Given the description of an element on the screen output the (x, y) to click on. 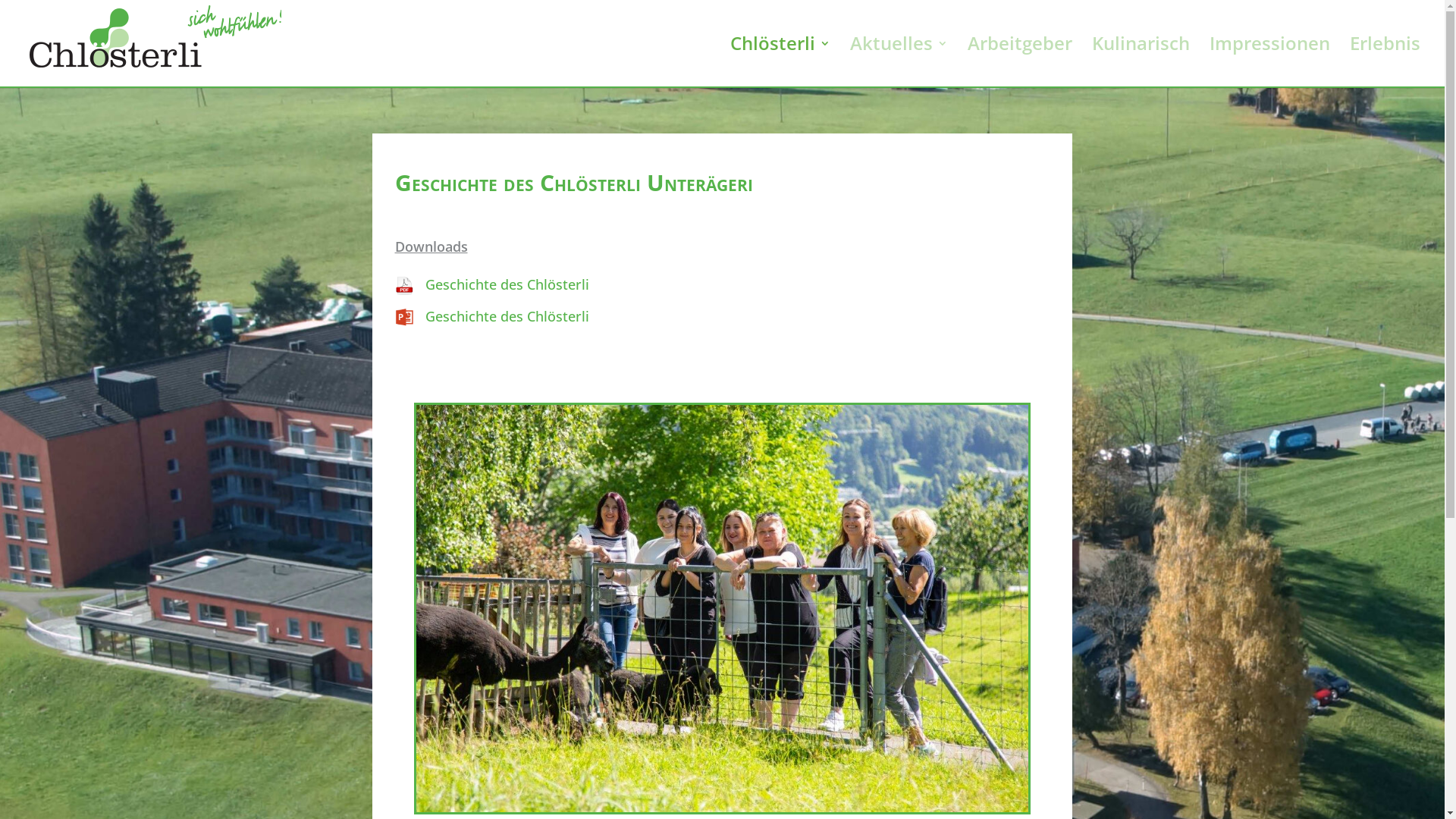
Impressionen Element type: text (1269, 61)
Erlebnis Element type: text (1384, 61)
Kulinarisch Element type: text (1140, 61)
Arbeitgeber Element type: text (1019, 61)
Aktuelles Element type: text (898, 61)
